Given the description of an element on the screen output the (x, y) to click on. 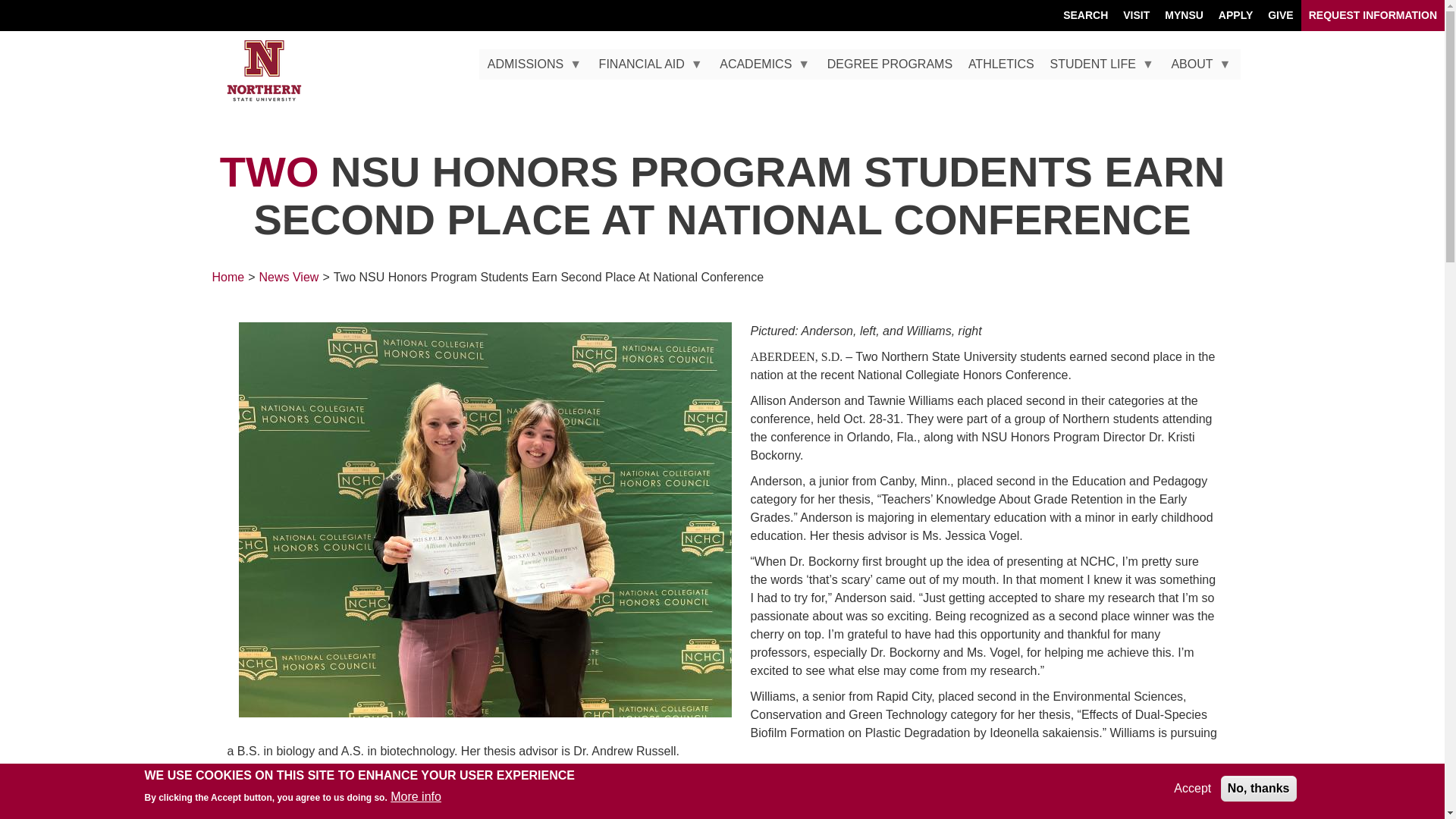
No, thanks (1259, 788)
SEARCH (1085, 15)
Home (264, 71)
Accept (1192, 788)
APPLY (1235, 15)
VISIT (1136, 15)
More info (415, 796)
MYNSU (1184, 15)
GIVE (1280, 15)
